Given the description of an element on the screen output the (x, y) to click on. 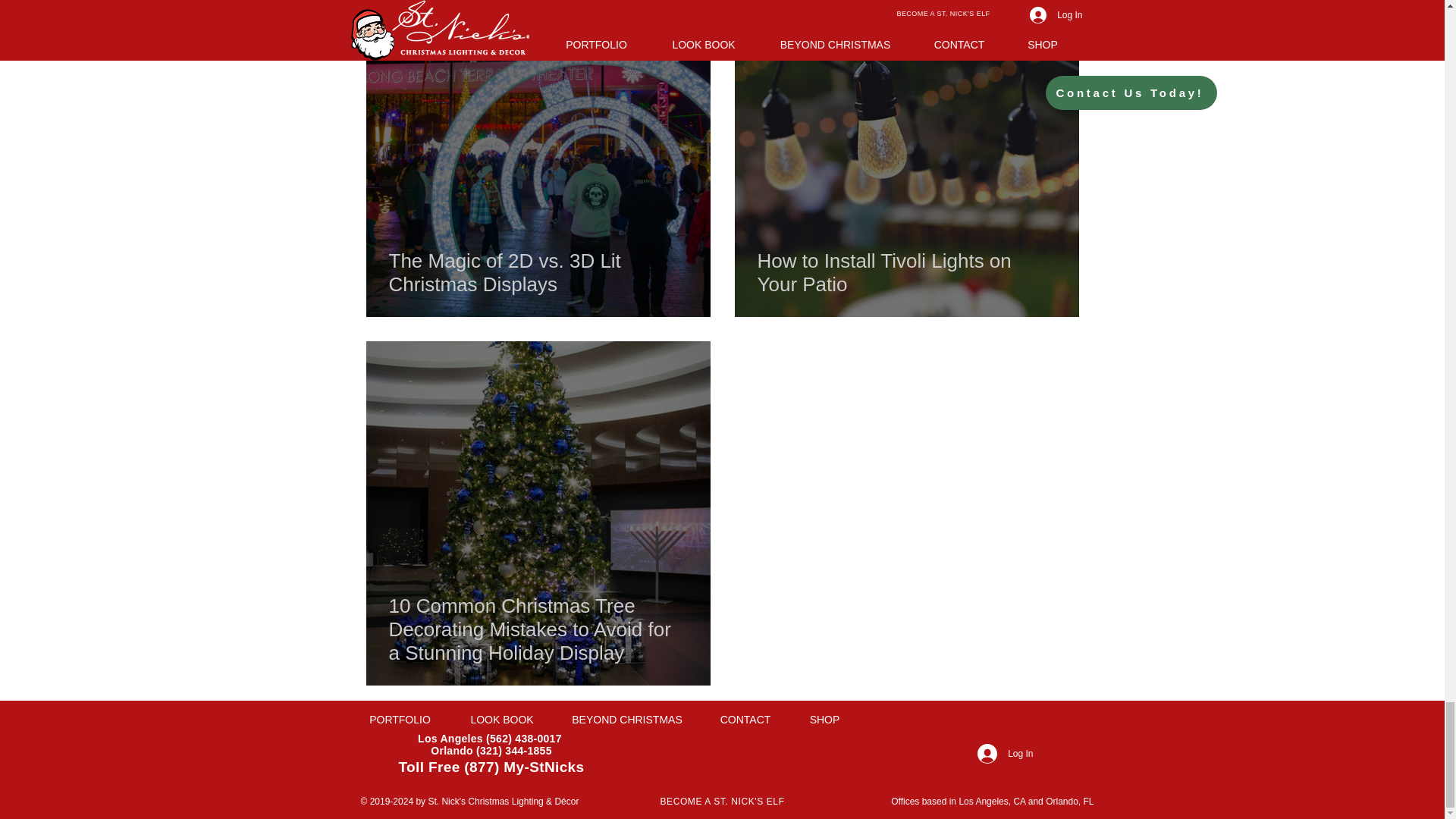
BEYOND CHRISTMAS (627, 719)
The Magic of 2D vs. 3D Lit Christmas Displays (537, 272)
PORTFOLIO (399, 719)
How to Install Tivoli Lights on Your Patio (906, 272)
LOOK BOOK (501, 719)
CONTACT (745, 719)
